Given the description of an element on the screen output the (x, y) to click on. 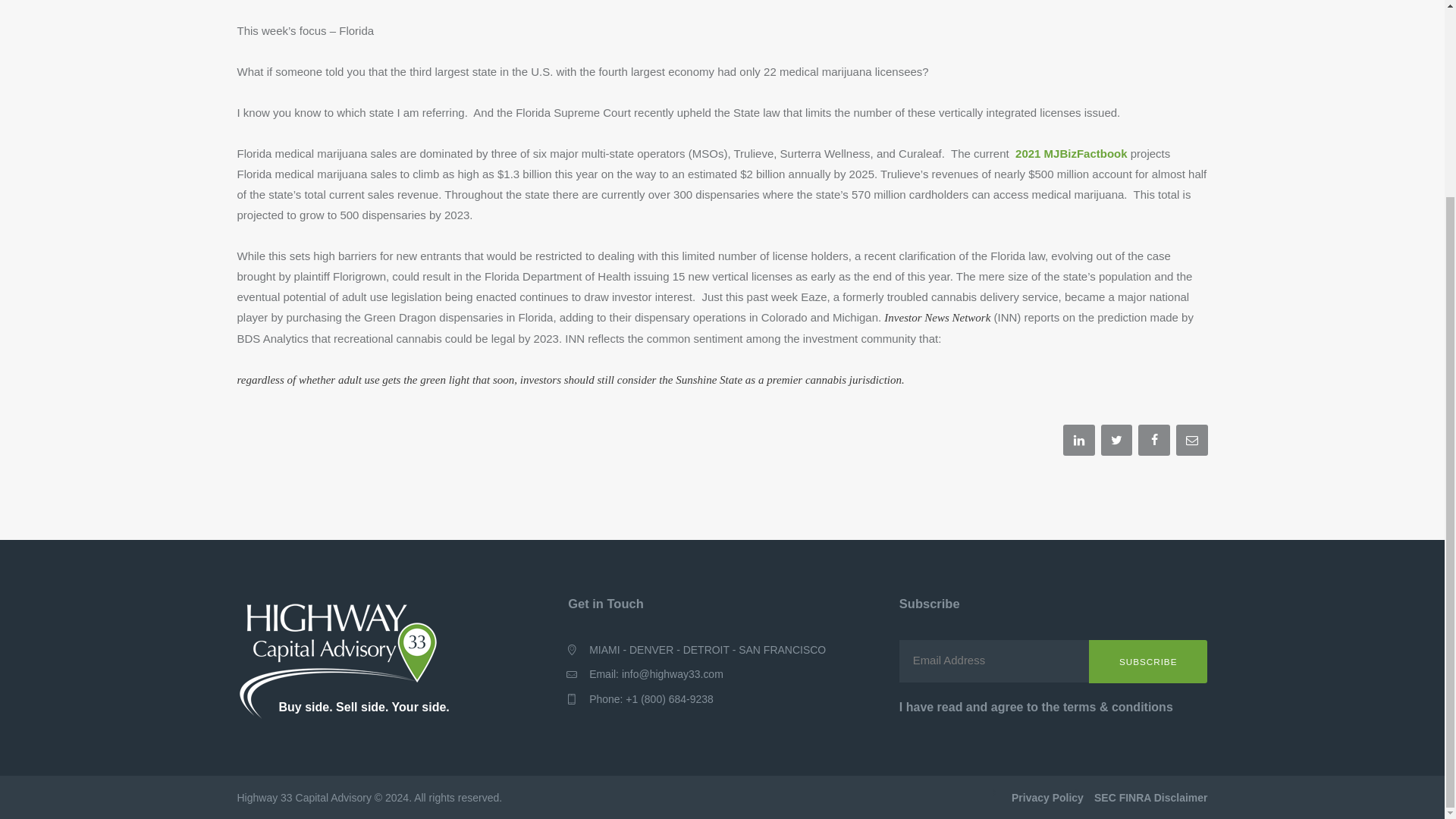
Email Address (1053, 660)
Subscribe (1148, 661)
